Given the description of an element on the screen output the (x, y) to click on. 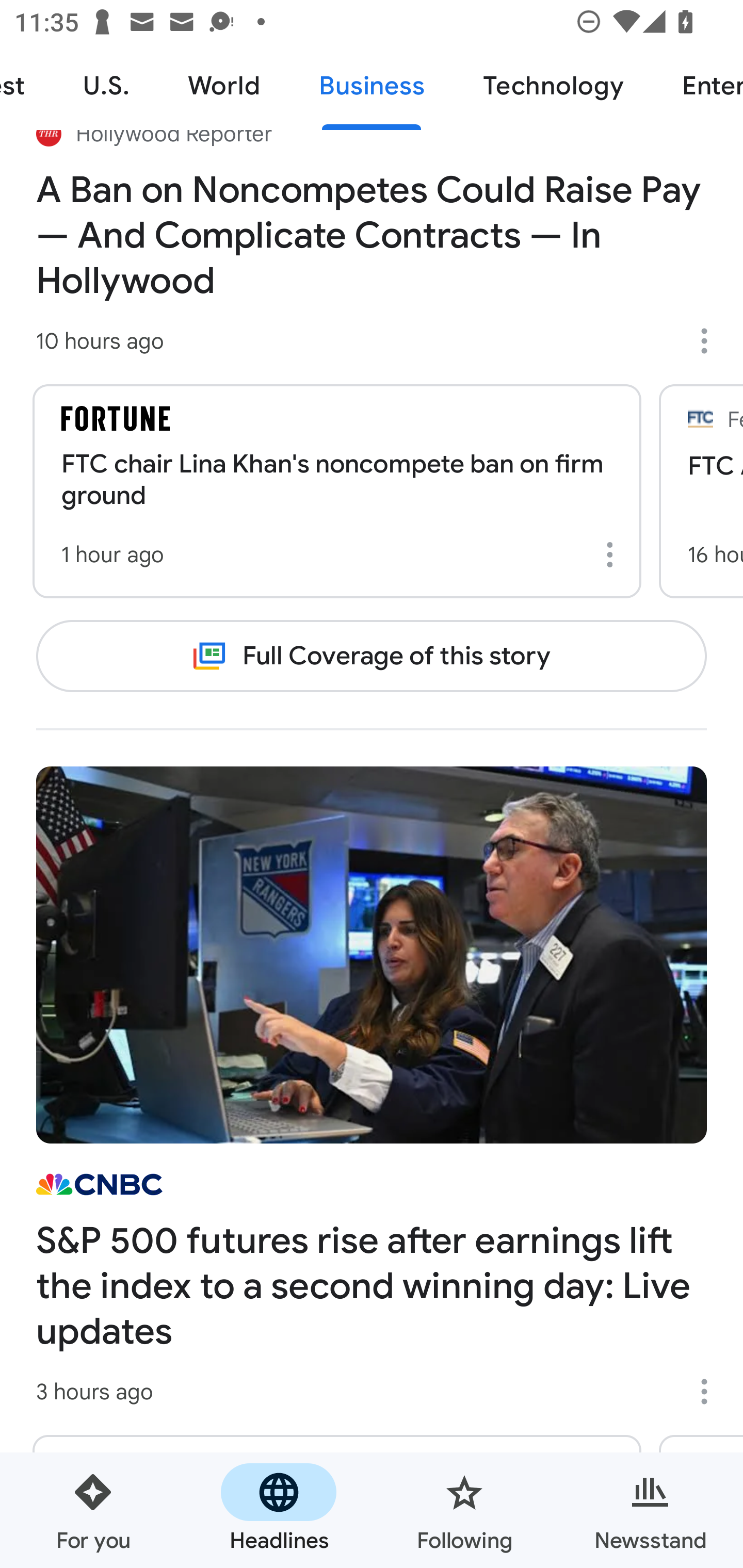
U.S. (106, 86)
World (224, 86)
Technology (552, 86)
Entertainment (697, 86)
More options (711, 340)
More options (613, 554)
Full Coverage of this story (371, 655)
More options (711, 1391)
For you (92, 1509)
Headlines (278, 1509)
Following (464, 1509)
Newsstand (650, 1509)
